Given the description of an element on the screen output the (x, y) to click on. 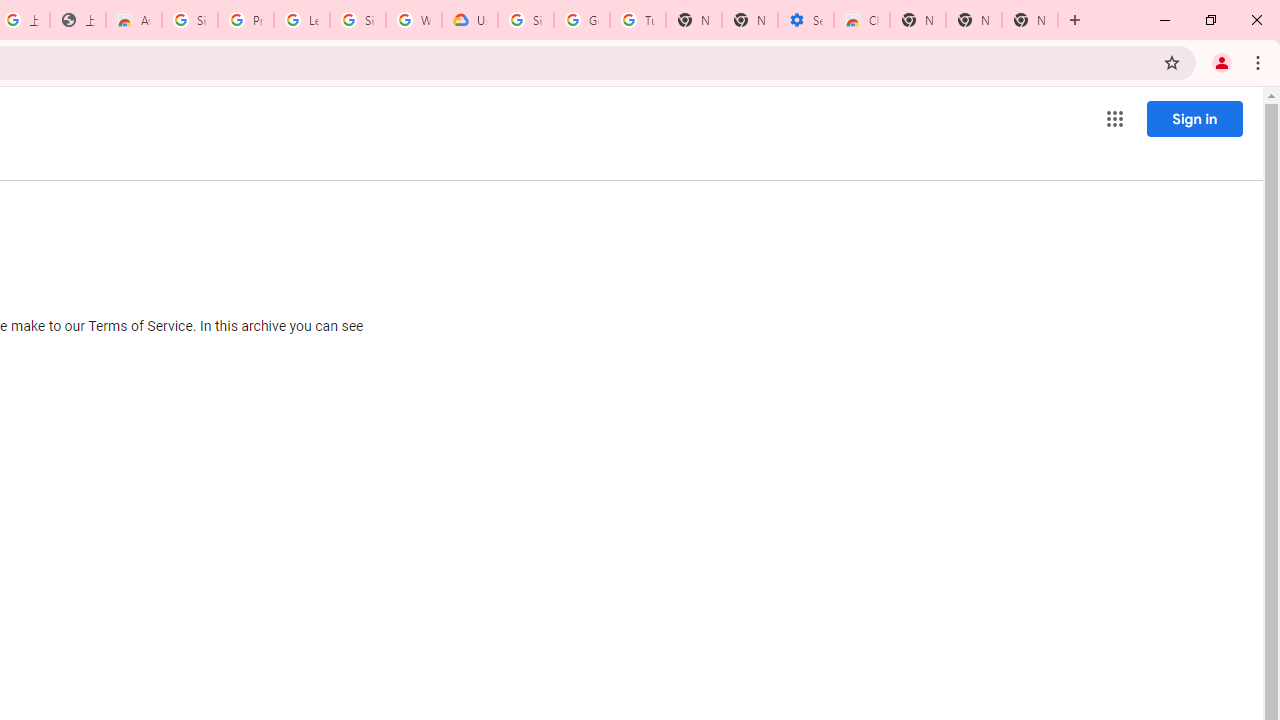
Google Account Help (582, 20)
Who are Google's partners? - Privacy and conditions - Google (413, 20)
New Tab (917, 20)
Sign in - Google Accounts (525, 20)
Turn cookies on or off - Computer - Google Account Help (637, 20)
Chrome Web Store - Accessibility extensions (861, 20)
New Tab (1030, 20)
